Given the description of an element on the screen output the (x, y) to click on. 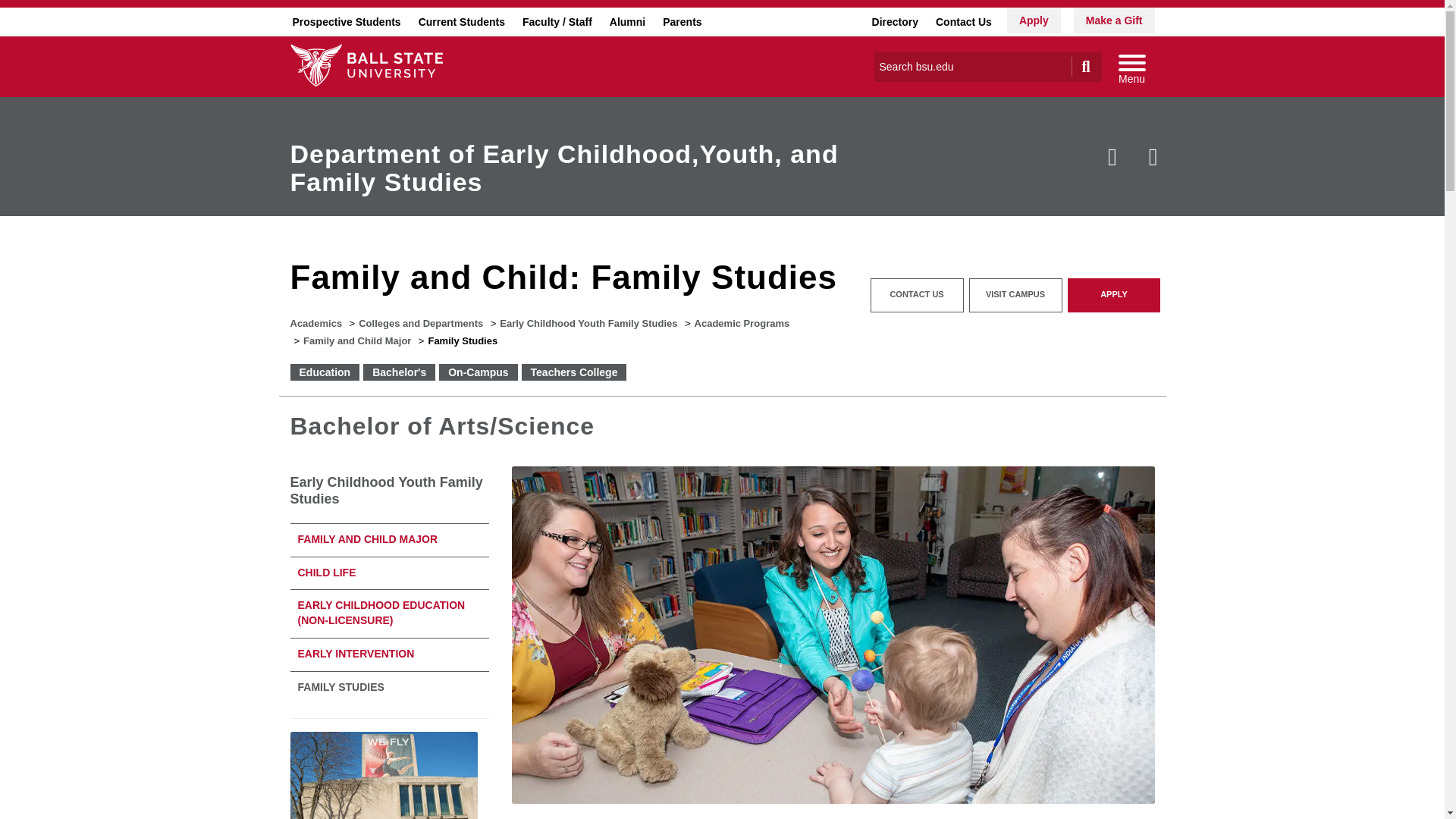
Alumni (627, 21)
How to Apply to Ball State University (1034, 20)
Make a Gift (1114, 20)
Learn How You Can Give to Ball State University (1114, 20)
Current Students (461, 21)
Resources and Services for Current Students (461, 21)
Contact Us (963, 21)
Ball State phone numbers, email and mailing addresses (963, 21)
Directory (894, 21)
Parents (682, 21)
Search bsu.edu (971, 66)
Admissions Information for Prospective Students (346, 21)
Department of Early Childhood,Youth, and Family Studies (563, 167)
Toggle navigation (1131, 66)
Prospective Students (346, 21)
